Given the description of an element on the screen output the (x, y) to click on. 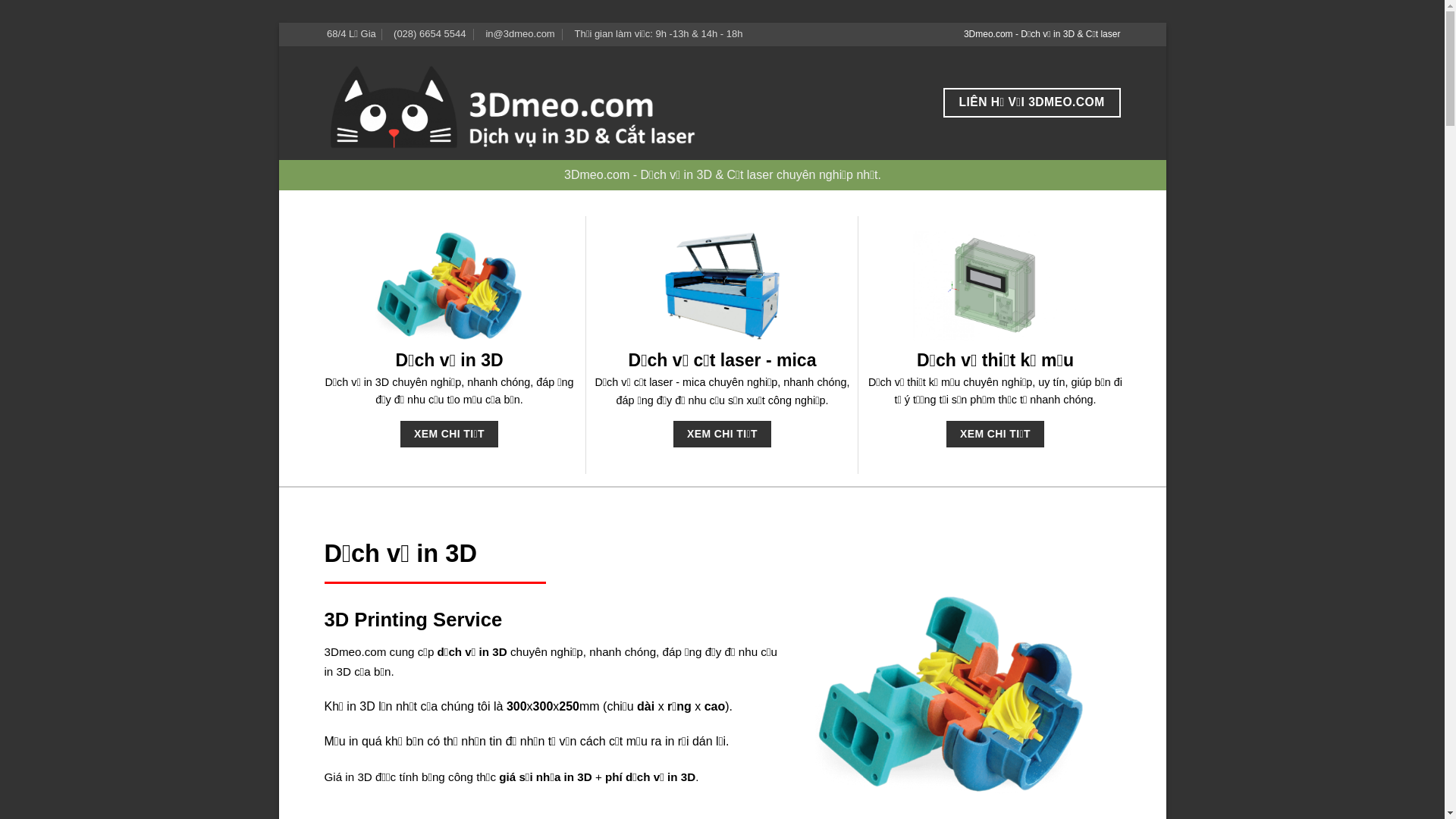
 (028) 6654 5544 Element type: text (427, 34)
 in@3dmeo.com Element type: text (519, 34)
Skip to content Element type: text (279, 22)
